Given the description of an element on the screen output the (x, y) to click on. 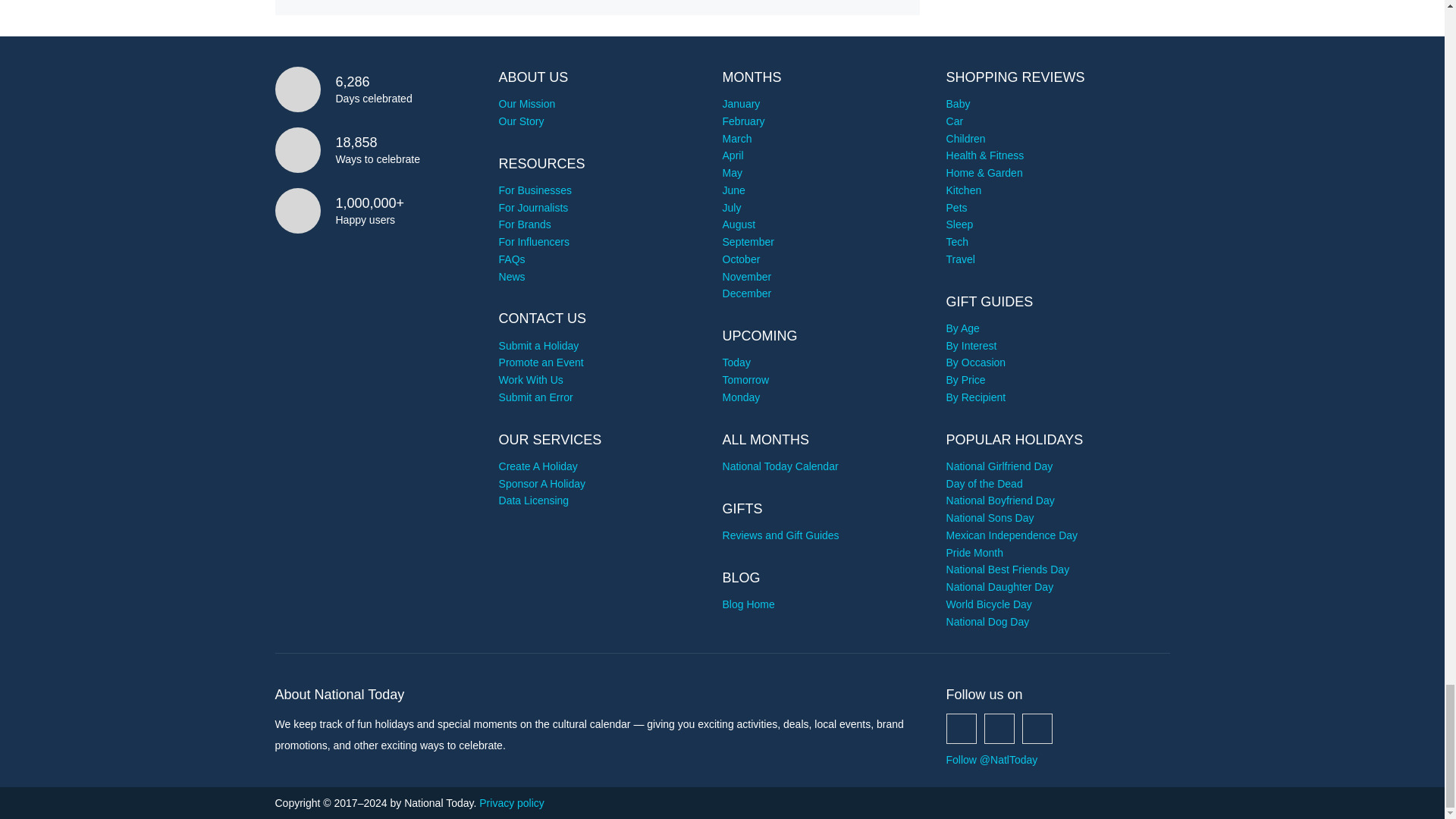
Follow us on Twitter (999, 728)
Follow us on Instagram (1037, 728)
Follow us on Facebook (961, 728)
